Given the description of an element on the screen output the (x, y) to click on. 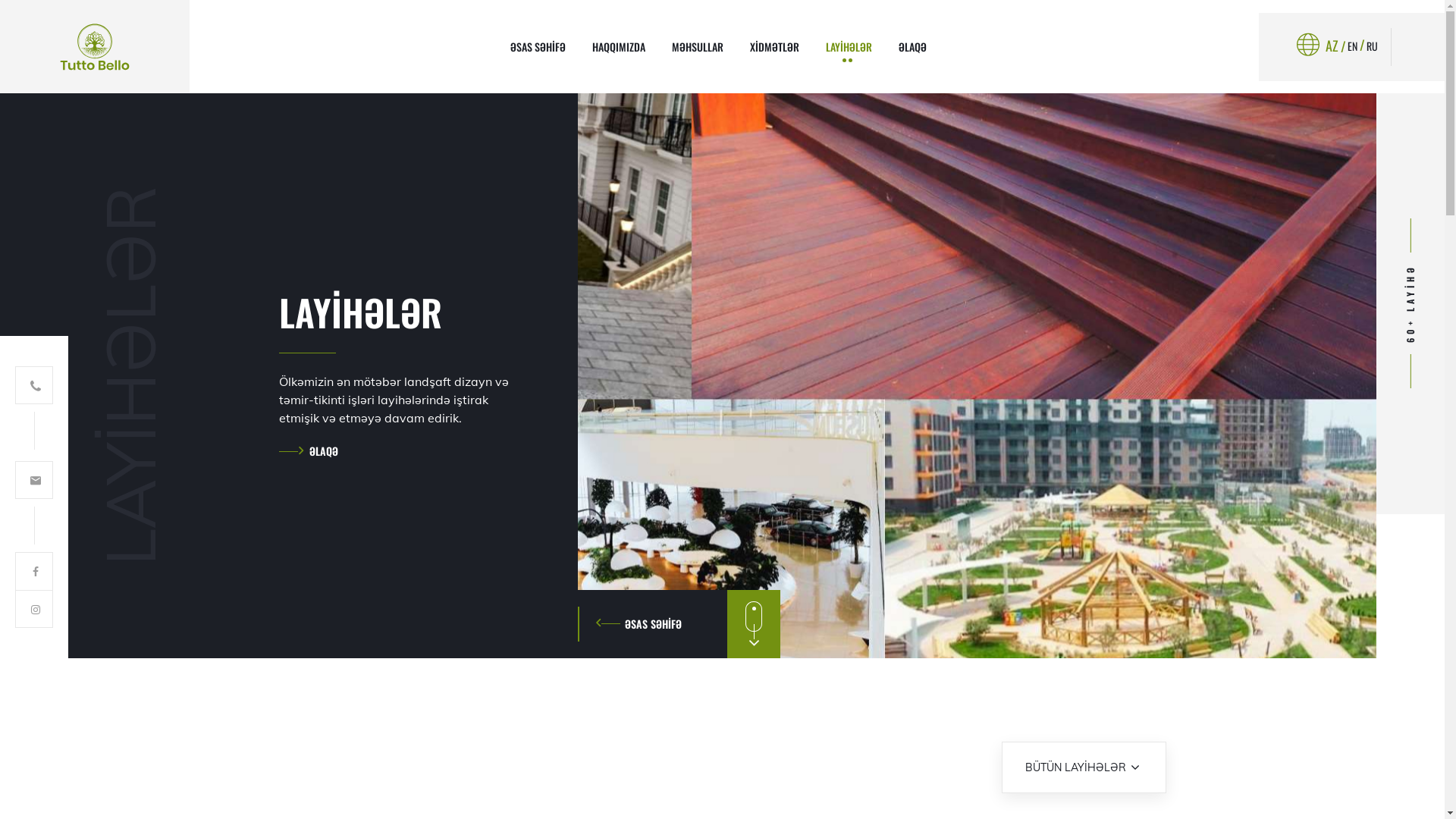
HAQQIMIZDA Element type: text (618, 46)
AZ Element type: text (1336, 45)
EN Element type: text (1356, 45)
RU Element type: text (1376, 45)
